Given the description of an element on the screen output the (x, y) to click on. 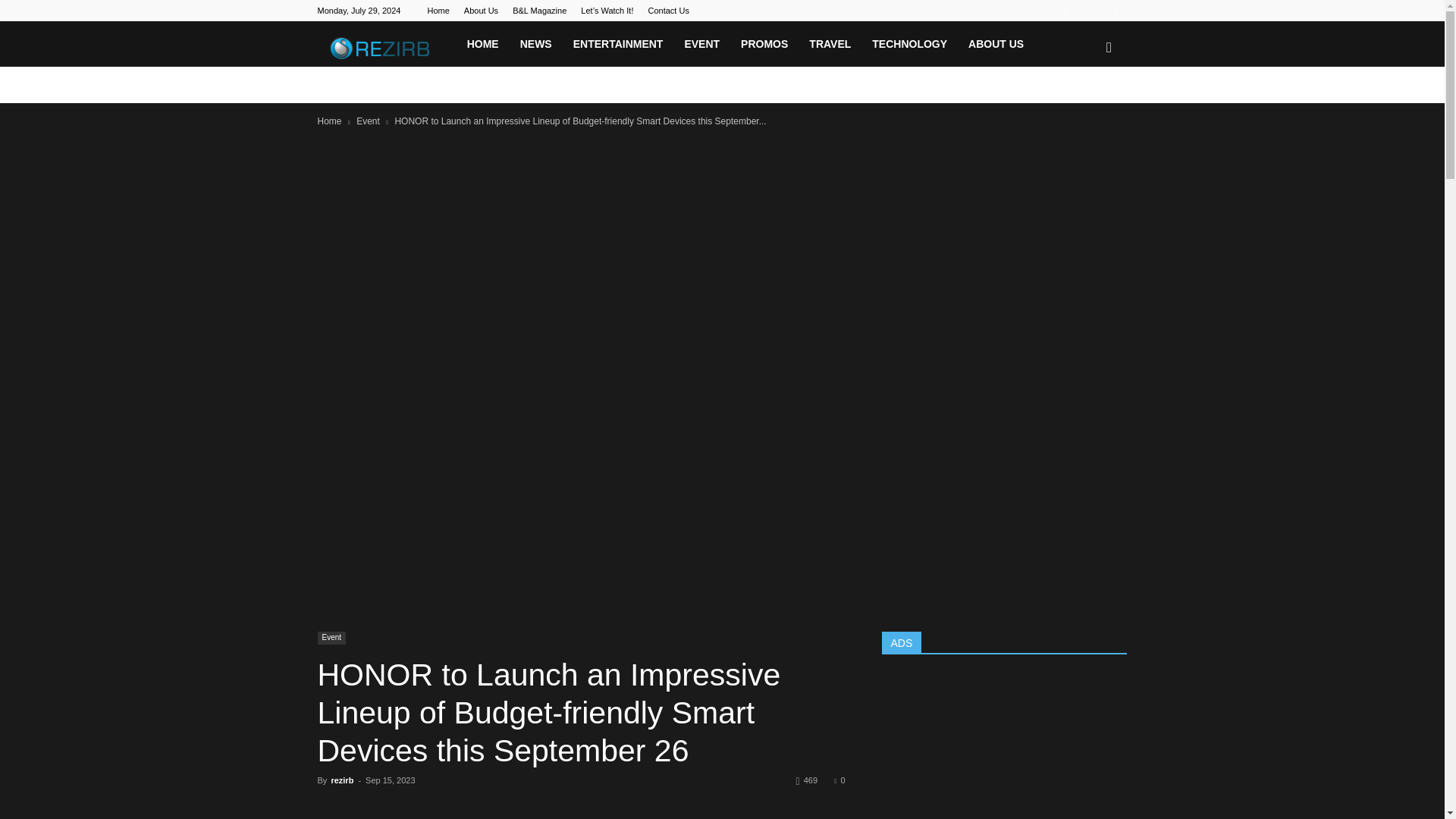
About Us (480, 10)
Twitter (1090, 10)
Youtube (1114, 10)
HOME (483, 43)
Home (437, 10)
Event (368, 121)
NEWS (535, 43)
EVENT (701, 43)
ENTERTAINMENT (618, 43)
TECHNOLOGY (909, 43)
PROMOS (763, 43)
Search (1083, 117)
TRAVEL (829, 43)
Event (331, 637)
ABOUT US (995, 43)
